Given the description of an element on the screen output the (x, y) to click on. 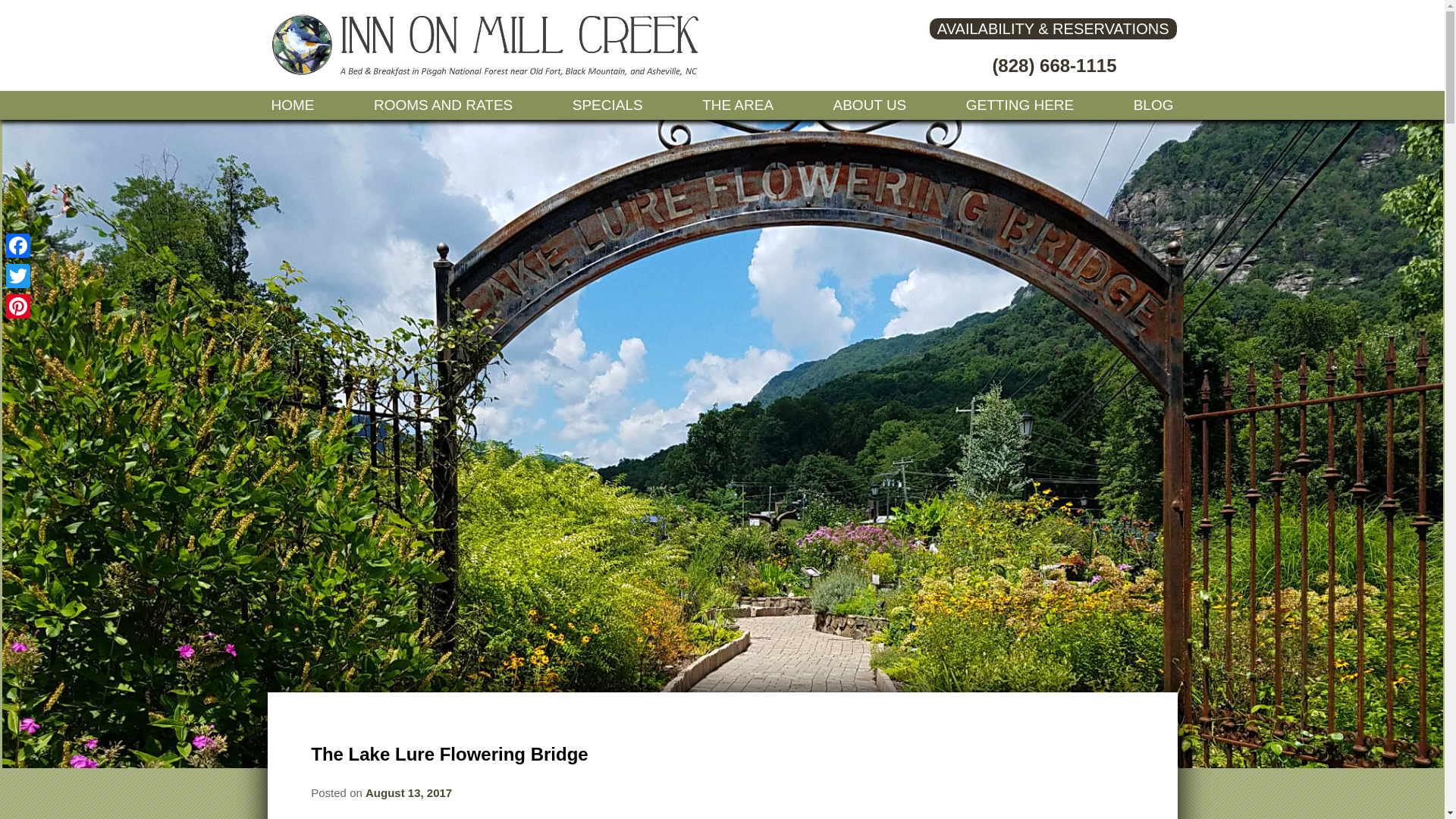
5:43 pm (408, 792)
ROOMS AND RATES (442, 104)
BLOG (1153, 104)
ABOUT US (870, 104)
August 13, 2017 (408, 792)
Inn on Mill Creek (486, 72)
